Given the description of an element on the screen output the (x, y) to click on. 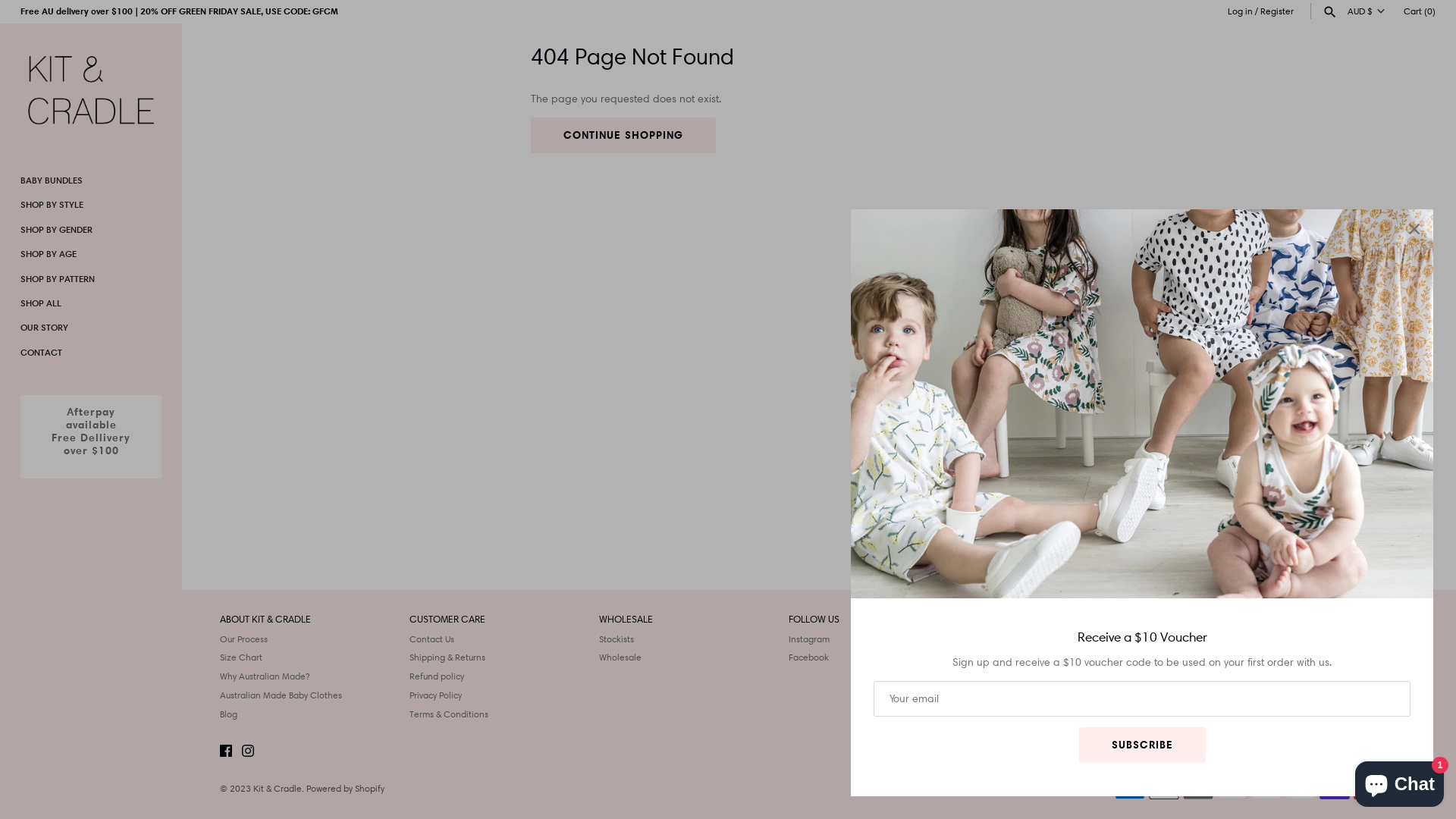
Blog Element type: text (228, 713)
Instagram Element type: text (247, 751)
SHOP BY STYLE Element type: text (90, 204)
Stockists Element type: text (616, 638)
Instagram Element type: text (808, 638)
Size Chart Element type: text (240, 656)
Facebook Element type: text (225, 751)
Refund policy Element type: text (436, 675)
Wholesale Element type: text (620, 656)
Shopify online store chat Element type: hover (1399, 780)
Contact Us Element type: text (431, 638)
Cart (0) Element type: text (1419, 10)
Log in Element type: text (1239, 10)
Our Process Element type: text (243, 638)
AUD $ Element type: text (1368, 11)
Terms & Conditions Element type: text (448, 713)
Shipping & Returns Element type: text (447, 656)
Register Element type: text (1276, 10)
Kit & Cradle Element type: hover (91, 87)
Facebook Element type: text (808, 656)
SHOP BY AGE Element type: text (90, 253)
OUR STORY Element type: text (90, 327)
Afterpay available
Free Dellivery over $100 Element type: text (90, 436)
AUD $ Element type: text (1360, 751)
SHOP ALL Element type: text (90, 303)
SHOP BY PATTERN Element type: text (90, 278)
Kit & Cradle Element type: text (277, 787)
CONTACT Element type: text (90, 352)
BABY BUNDLES Element type: text (90, 180)
Powered by Shopify Element type: text (345, 787)
CONTINUE SHOPPING Element type: text (622, 135)
SUBSCRIBE Element type: text (1141, 744)
Australian Made Baby Clothes Element type: text (280, 694)
SHOP BY GENDER Element type: text (90, 229)
Privacy Policy Element type: text (435, 694)
Why Australian Made? Element type: text (264, 675)
